Given the description of an element on the screen output the (x, y) to click on. 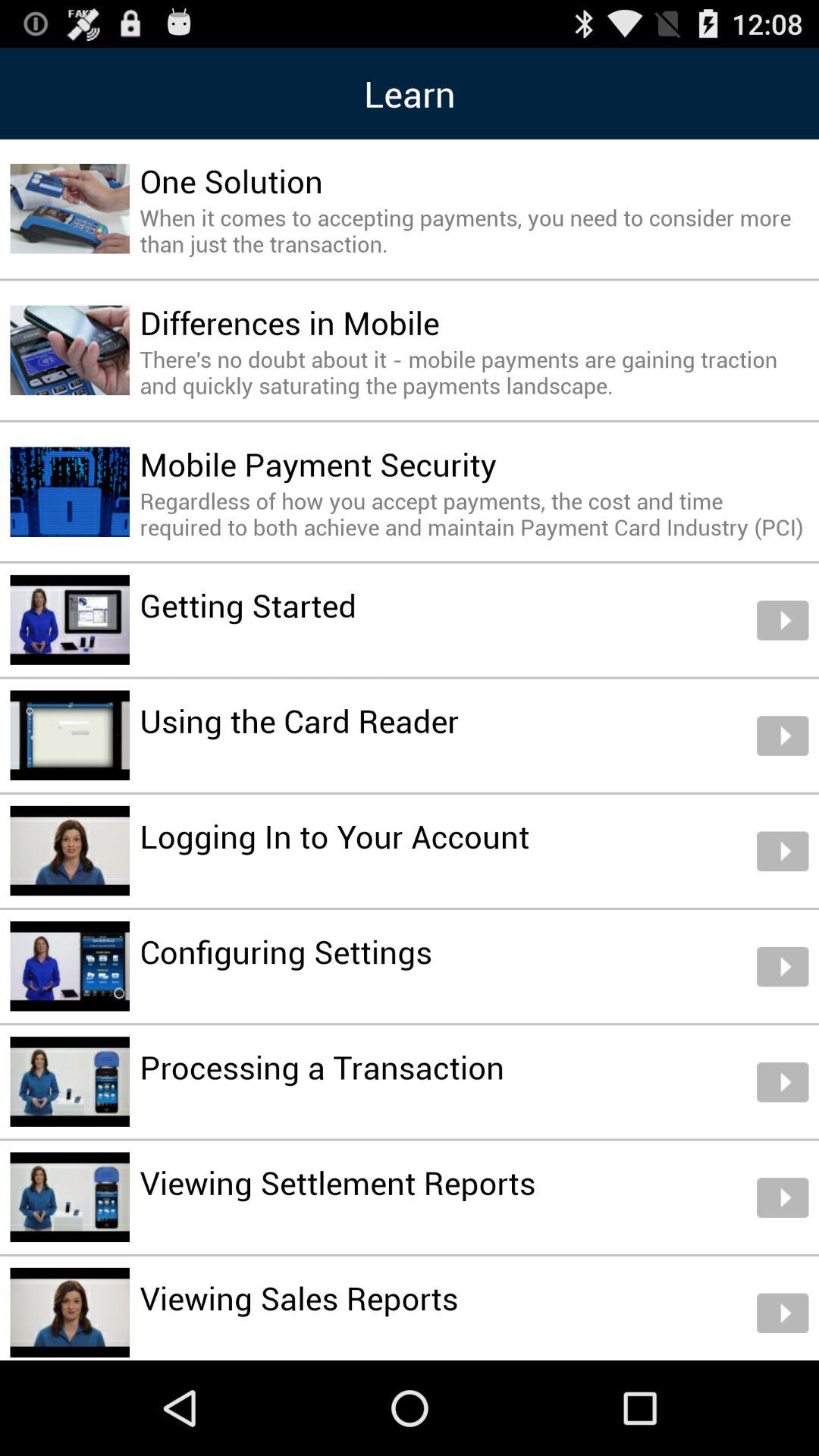
click mobile payment security (317, 463)
